Given the description of an element on the screen output the (x, y) to click on. 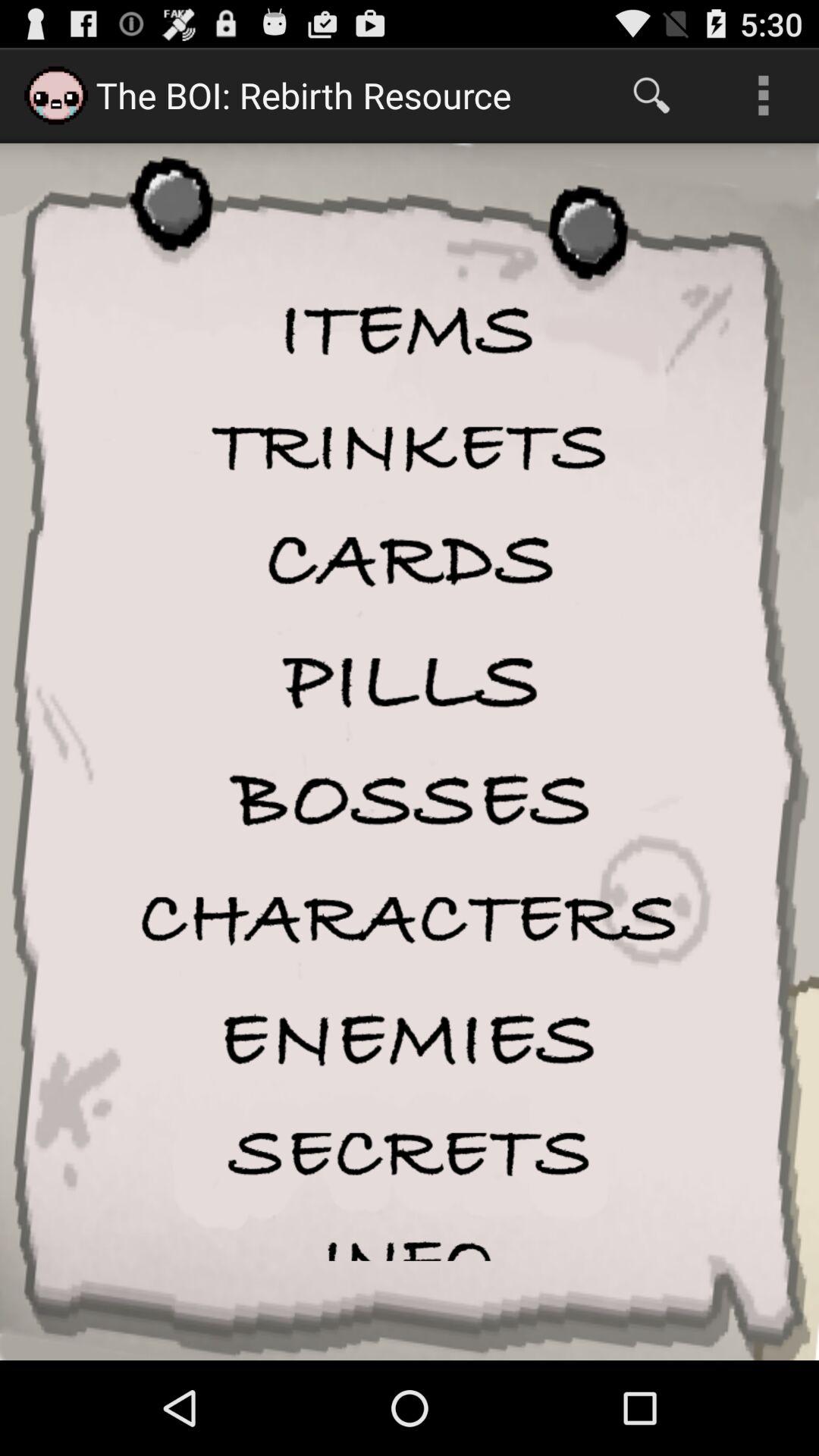
see a list of items (409, 332)
